Given the description of an element on the screen output the (x, y) to click on. 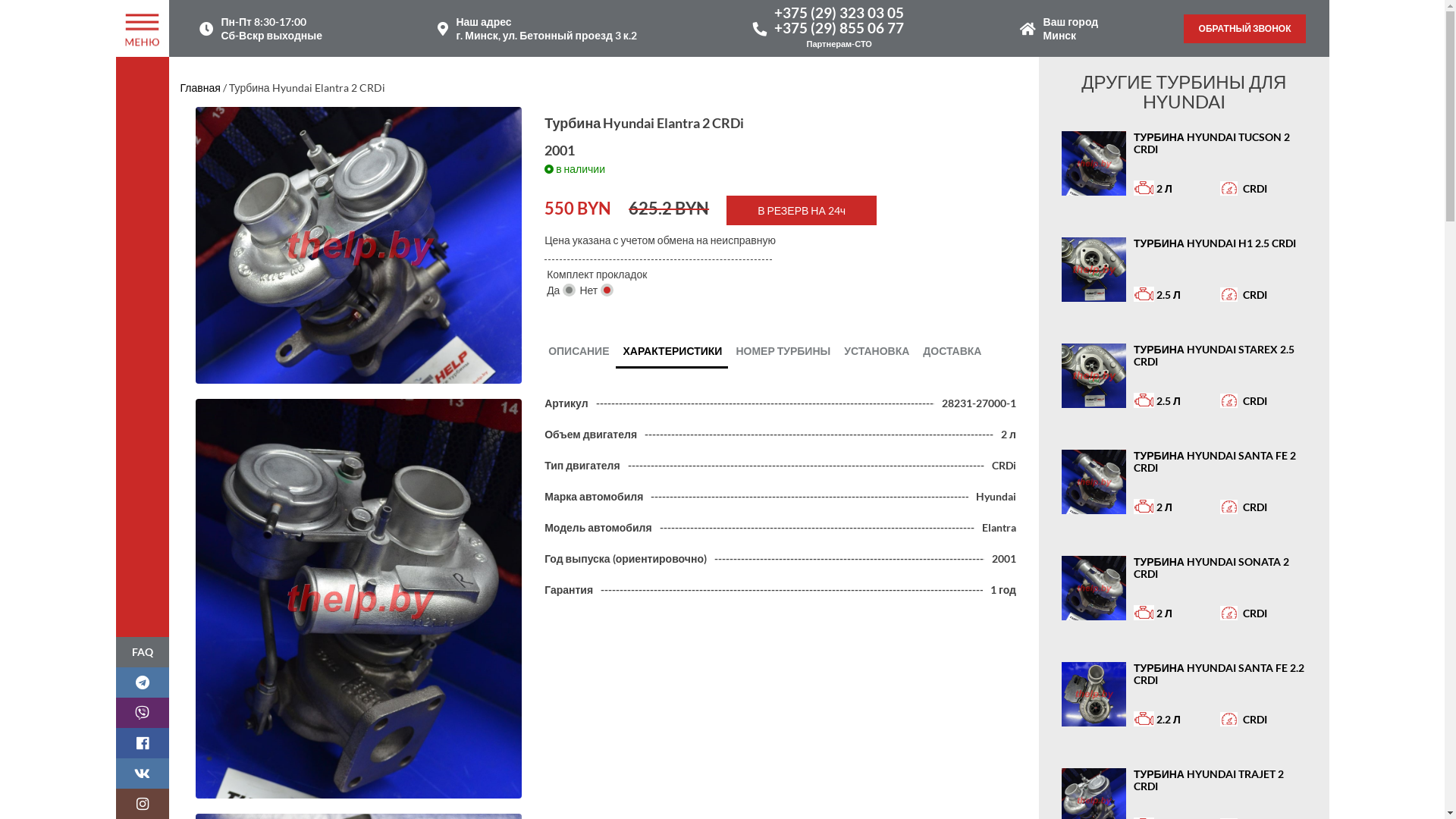
on Element type: text (606, 289)
on Element type: text (568, 289)
+375 (29) 855 06 77 Element type: text (838, 27)
+375 (29) 323 03 05 Element type: text (838, 12)
FAQ Element type: text (141, 652)
